Given the description of an element on the screen output the (x, y) to click on. 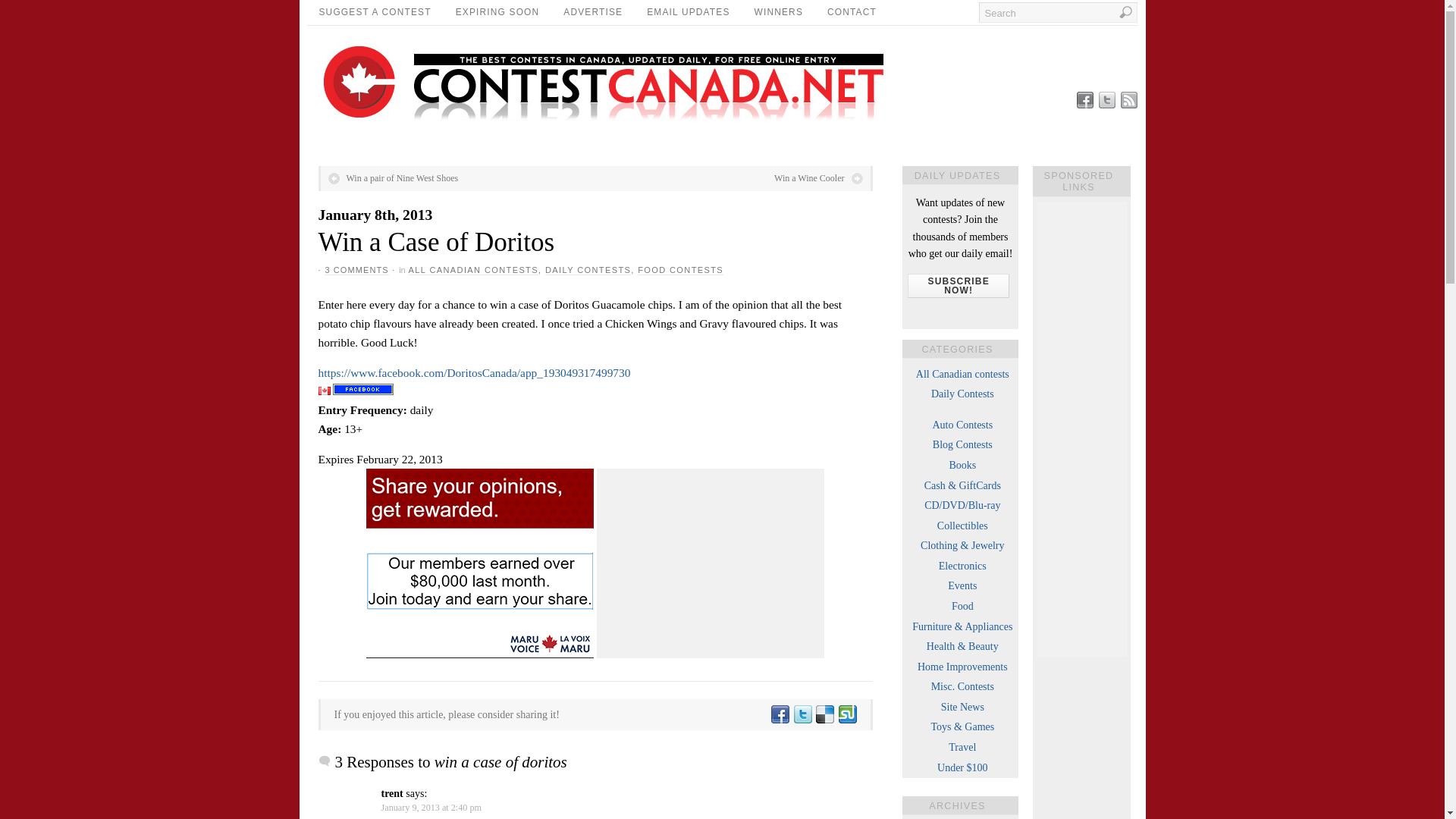
Electronics (963, 565)
All Canadian Contests from ContestCanada.net (962, 374)
DAILY CONTESTS (587, 270)
Advertisement (710, 563)
3 COMMENTS (356, 270)
SUBSCRIBE NOW! (958, 285)
Share on Facebook (779, 714)
Books (962, 464)
For CD and DVD contests in Canada. (962, 505)
Share on StumbleUpon (847, 714)
